Given the description of an element on the screen output the (x, y) to click on. 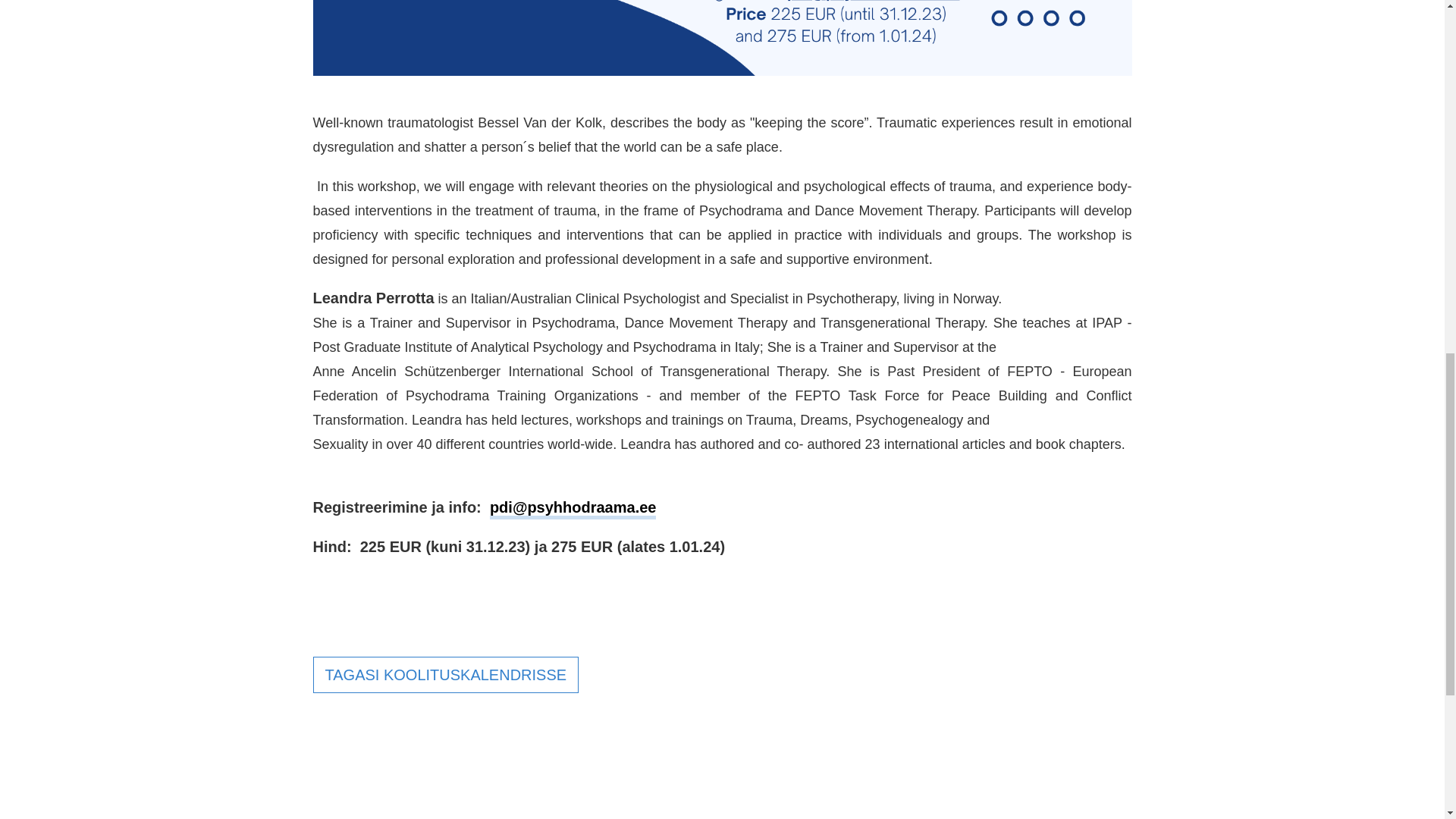
TAGASI KOOLITUSKALENDRISSE (445, 674)
